Given the description of an element on the screen output the (x, y) to click on. 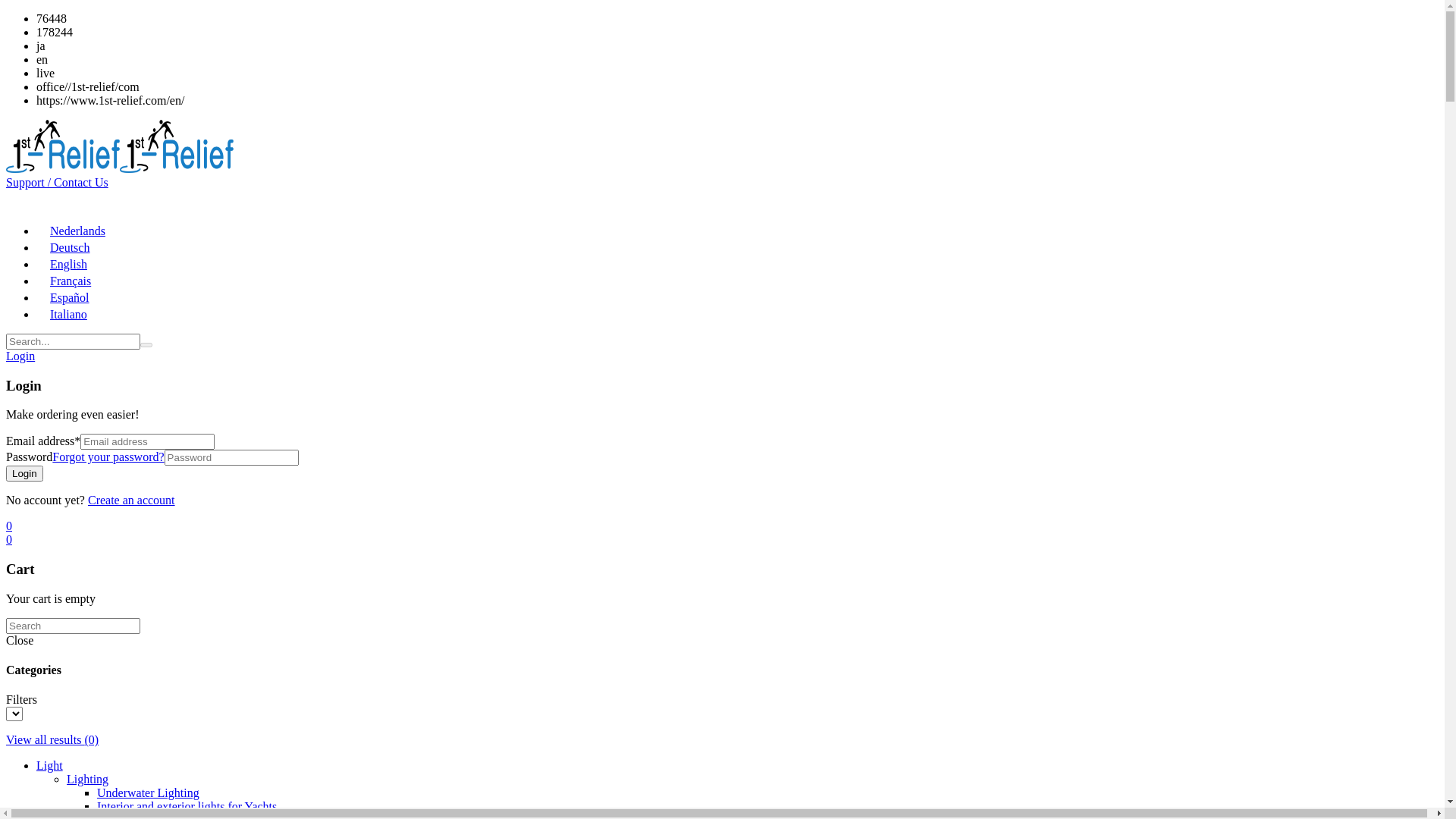
Nederlands Element type: text (70, 230)
Italiano Element type: text (61, 313)
Create an account Element type: text (131, 499)
Light Element type: text (49, 765)
Deutsch Element type: text (62, 247)
Underwater Lighting Element type: text (148, 792)
English Element type: text (61, 263)
Login Element type: text (20, 355)
Interior and exterior lights for Yachts Element type: text (186, 806)
Forgot your password? Element type: text (107, 456)
Login Element type: text (24, 473)
0 Element type: text (9, 539)
Lighting Element type: text (87, 778)
0 Element type: text (9, 525)
Search Element type: hover (146, 344)
Support / Contact Us Element type: text (57, 181)
View all results (0) Element type: text (52, 739)
